Given the description of an element on the screen output the (x, y) to click on. 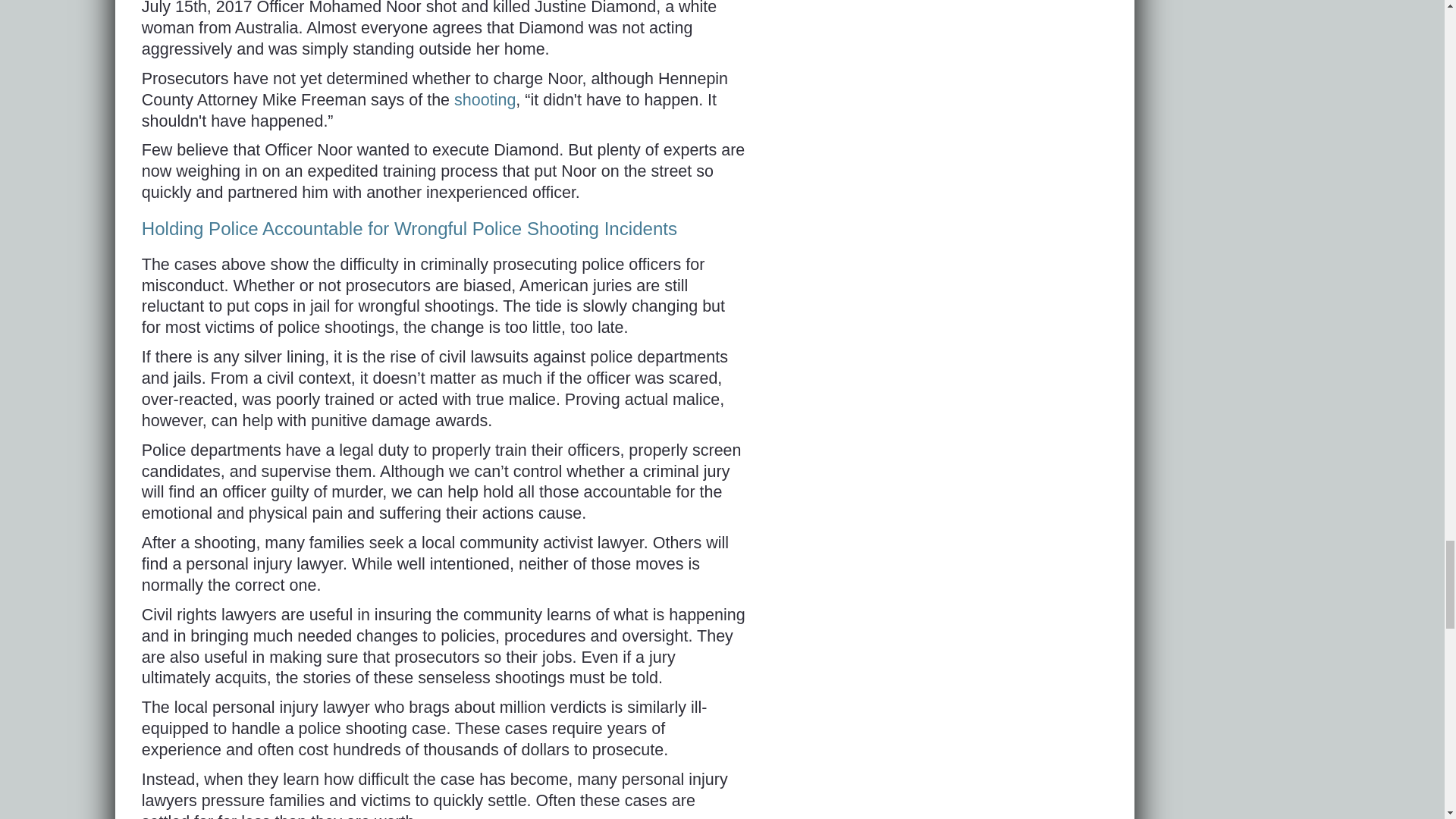
shooting (484, 99)
